Given the description of an element on the screen output the (x, y) to click on. 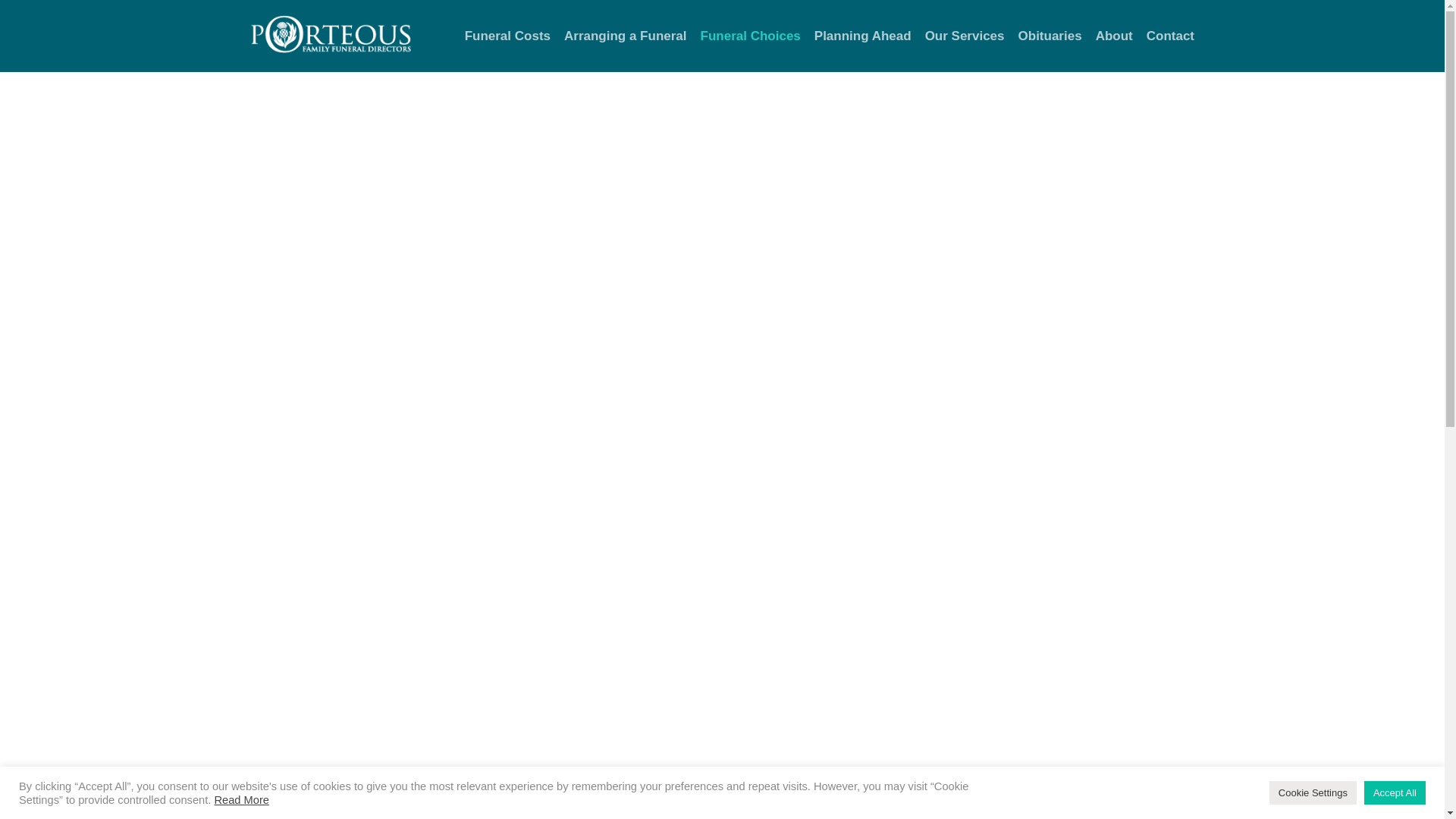
Contact (1166, 35)
Funeral Choices (751, 35)
Obituaries (1050, 35)
About (1114, 35)
Funeral Costs (507, 35)
Arranging a Funeral (625, 35)
Planning Ahead (863, 35)
Our Services (964, 35)
